Given the description of an element on the screen output the (x, y) to click on. 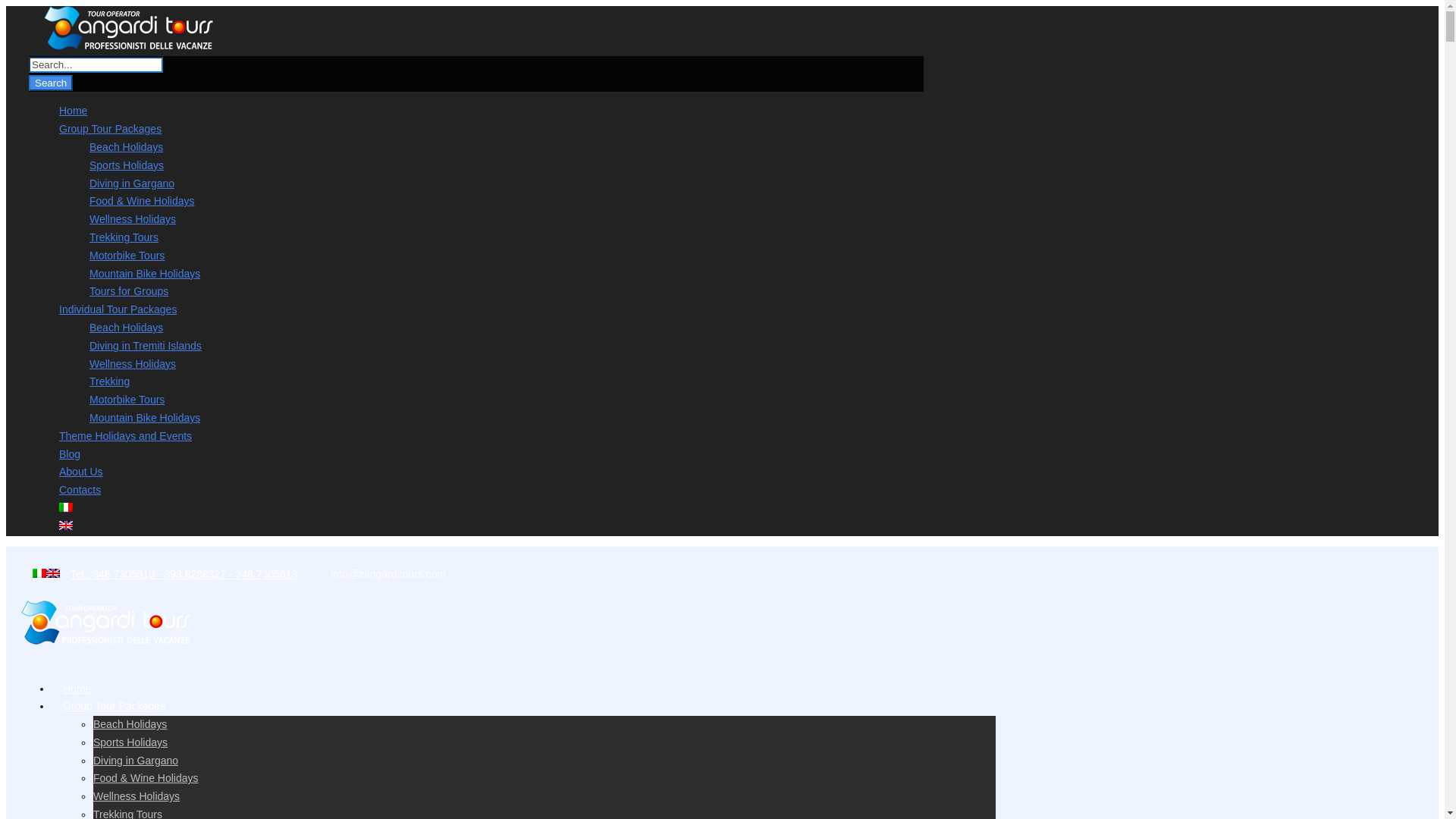
Italiano (65, 506)
Sports Holidays (130, 742)
English (65, 524)
Mountain Bike Holidays (144, 417)
Search (50, 82)
Diving in Tremiti Islands (145, 345)
Group Tour Packages (113, 718)
Sports Holidays (125, 164)
Beach Holidays (125, 146)
About Us (81, 471)
